Given the description of an element on the screen output the (x, y) to click on. 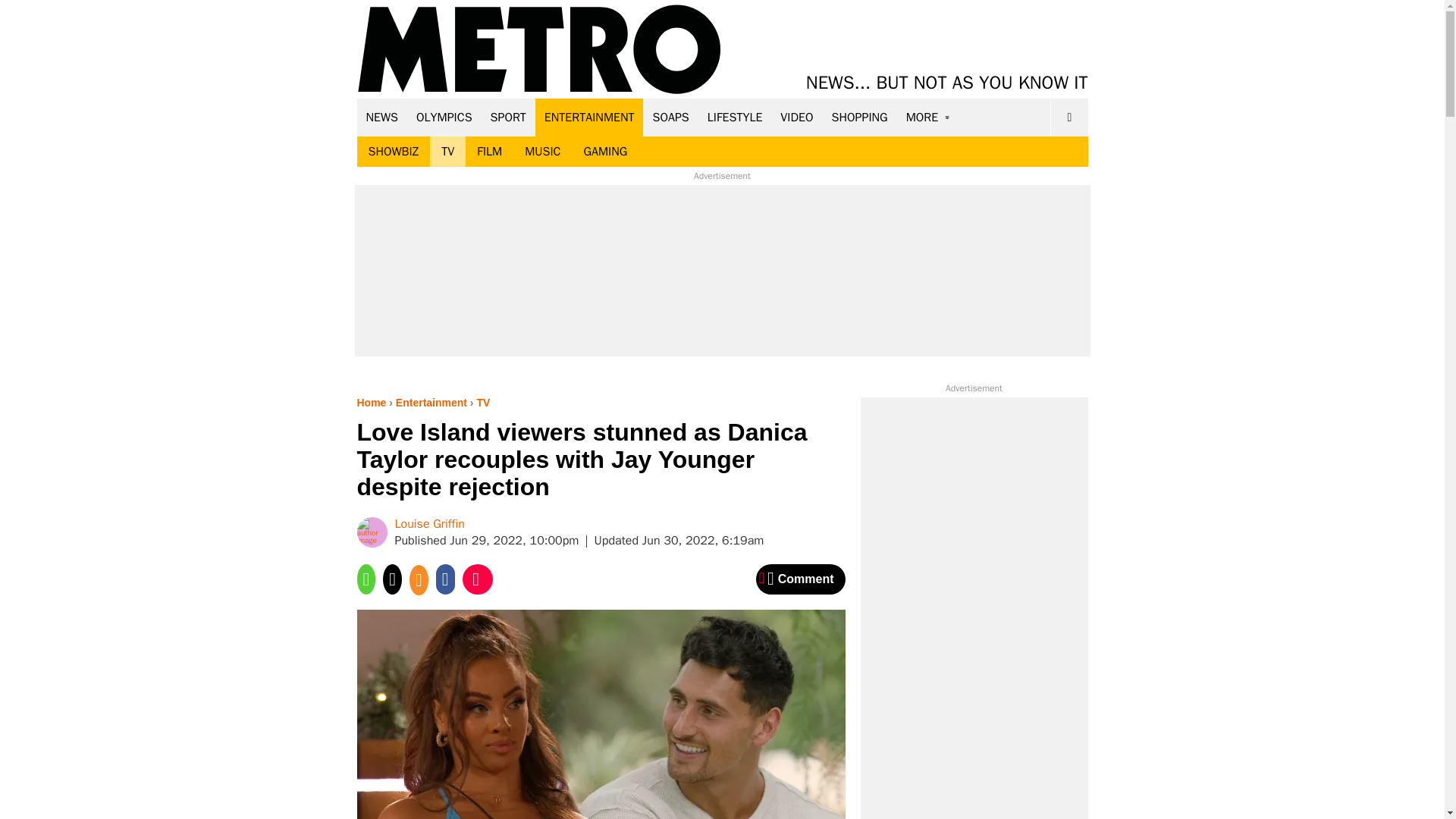
SOAPS (670, 117)
SHOWBIZ (392, 151)
SPORT (508, 117)
MUSIC (542, 151)
ENTERTAINMENT (589, 117)
LIFESTYLE (734, 117)
TV (447, 151)
Metro (539, 50)
NEWS (381, 117)
OLYMPICS (444, 117)
GAMING (605, 151)
FILM (489, 151)
